Given the description of an element on the screen output the (x, y) to click on. 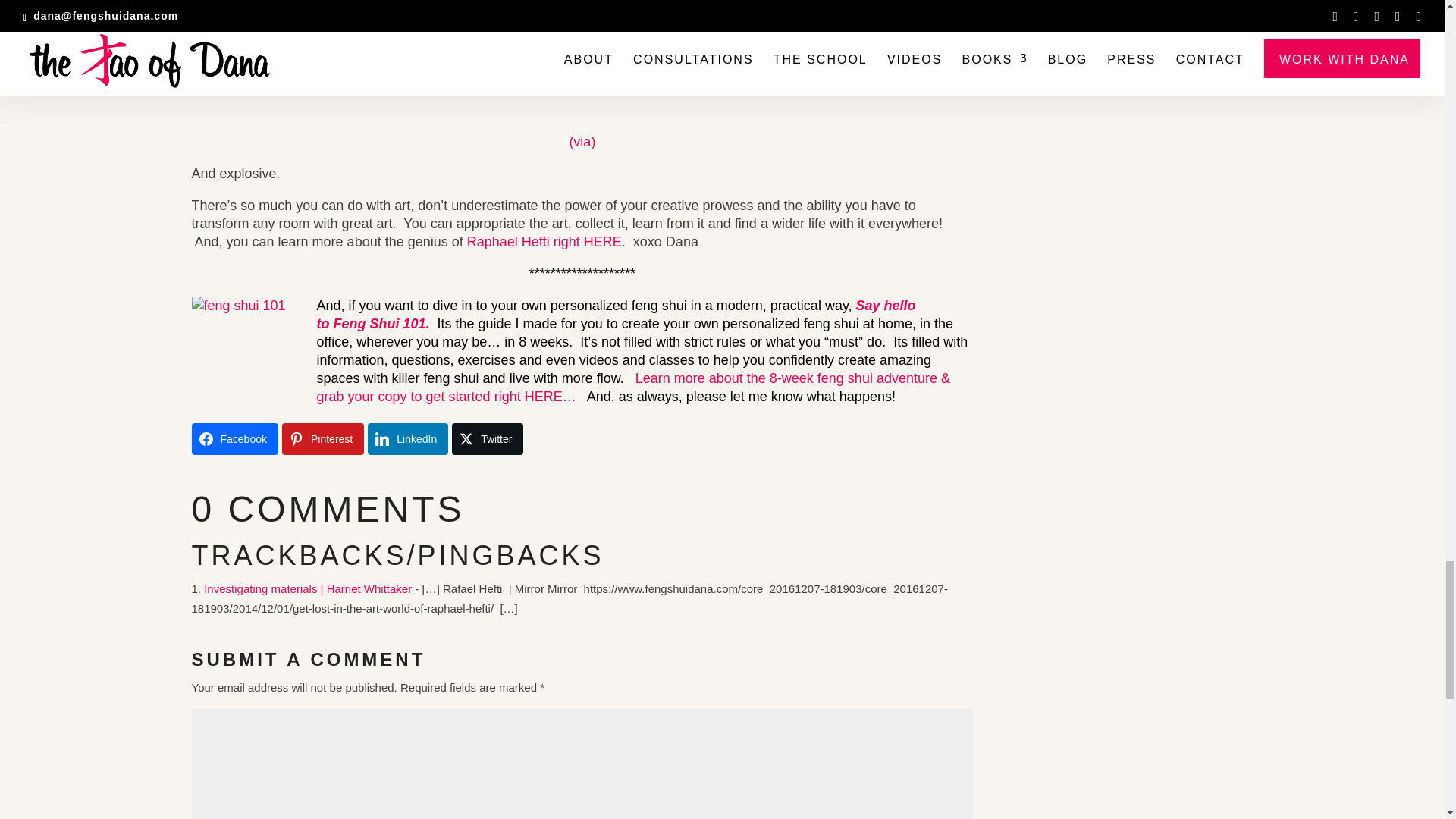
Share on Pinterest (323, 439)
raphael hefti  (582, 59)
feng shui 101 book  (247, 353)
Share on Facebook (234, 439)
Share on LinkedIn (408, 439)
